Given the description of an element on the screen output the (x, y) to click on. 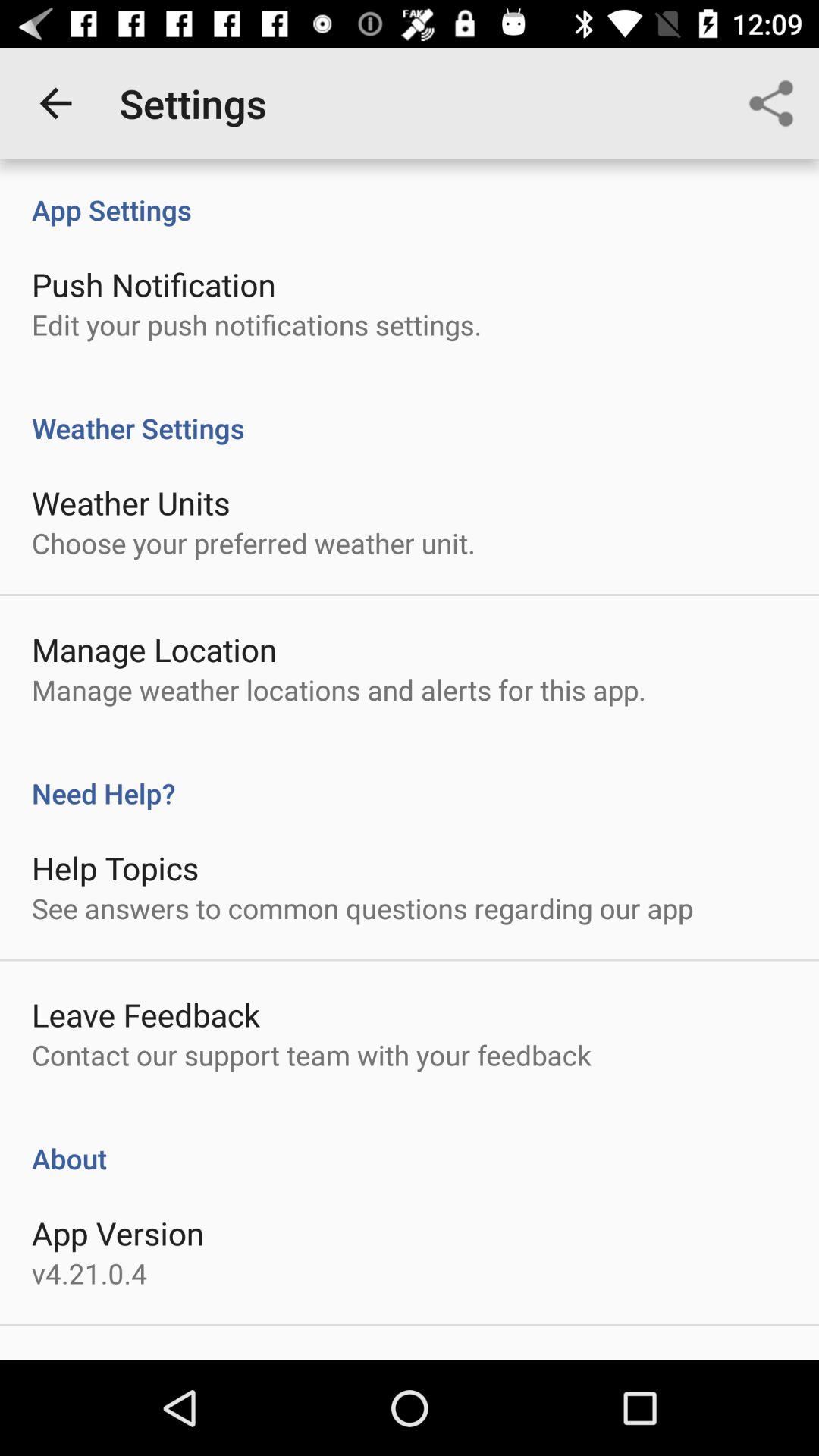
choose see answers to item (362, 908)
